Given the description of an element on the screen output the (x, y) to click on. 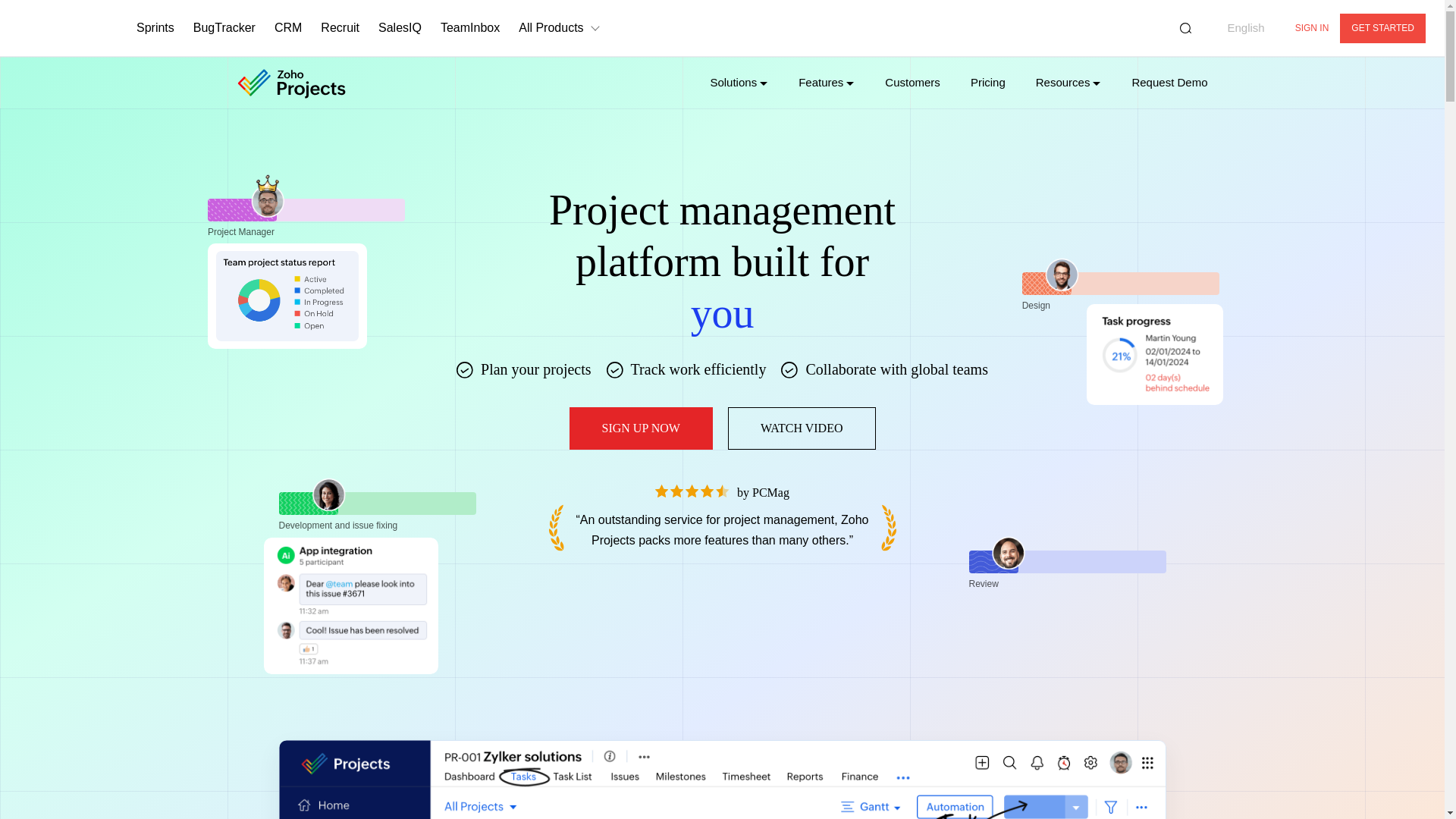
TeamInbox (470, 28)
Recruit (339, 28)
SalesIQ (400, 28)
BugTracker (224, 28)
English (1235, 28)
GET STARTED (1382, 28)
Sprints (155, 28)
Zoho.com (60, 27)
SIGN IN (1312, 28)
